Given the description of an element on the screen output the (x, y) to click on. 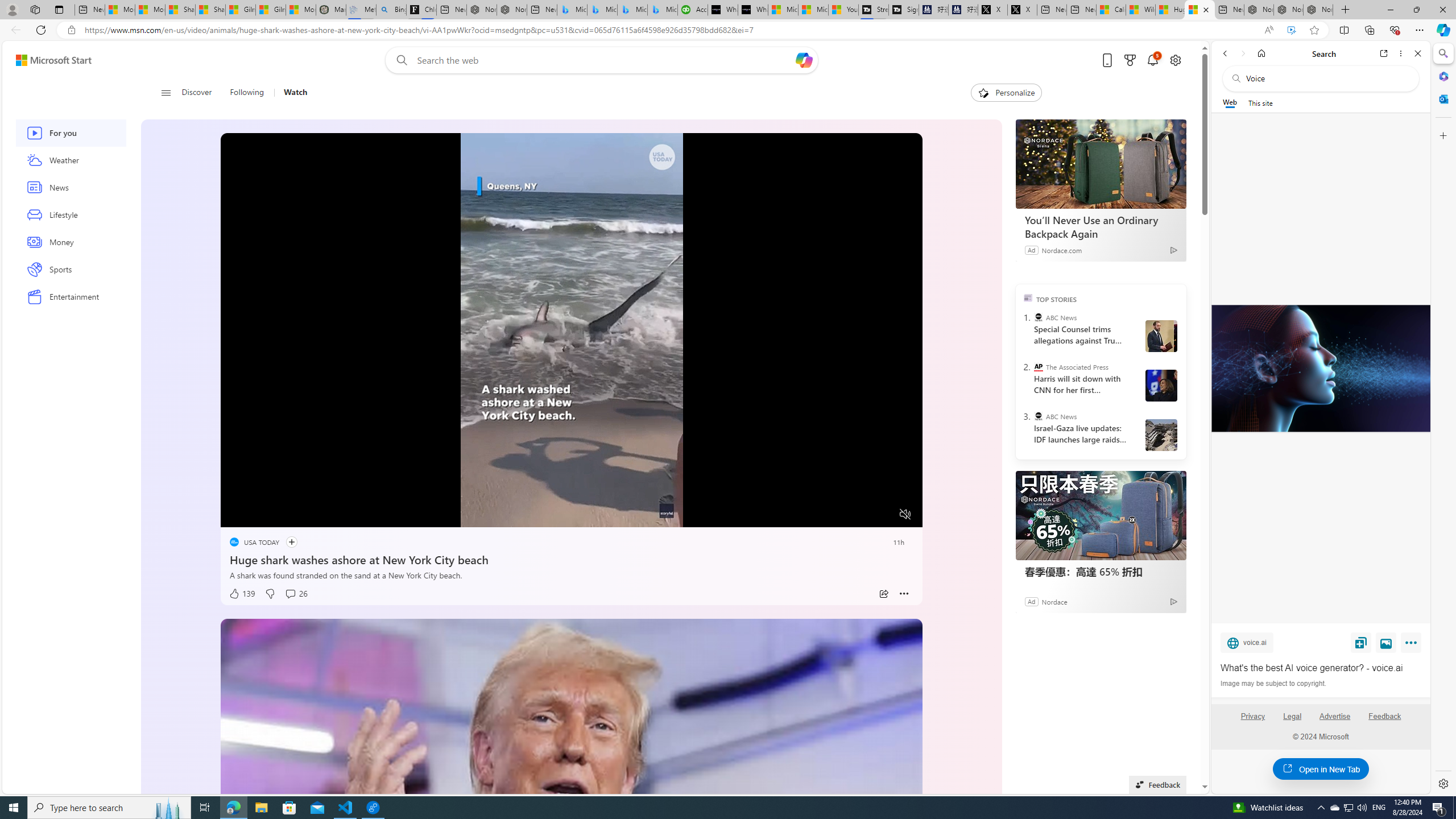
More (1413, 644)
